Given the description of an element on the screen output the (x, y) to click on. 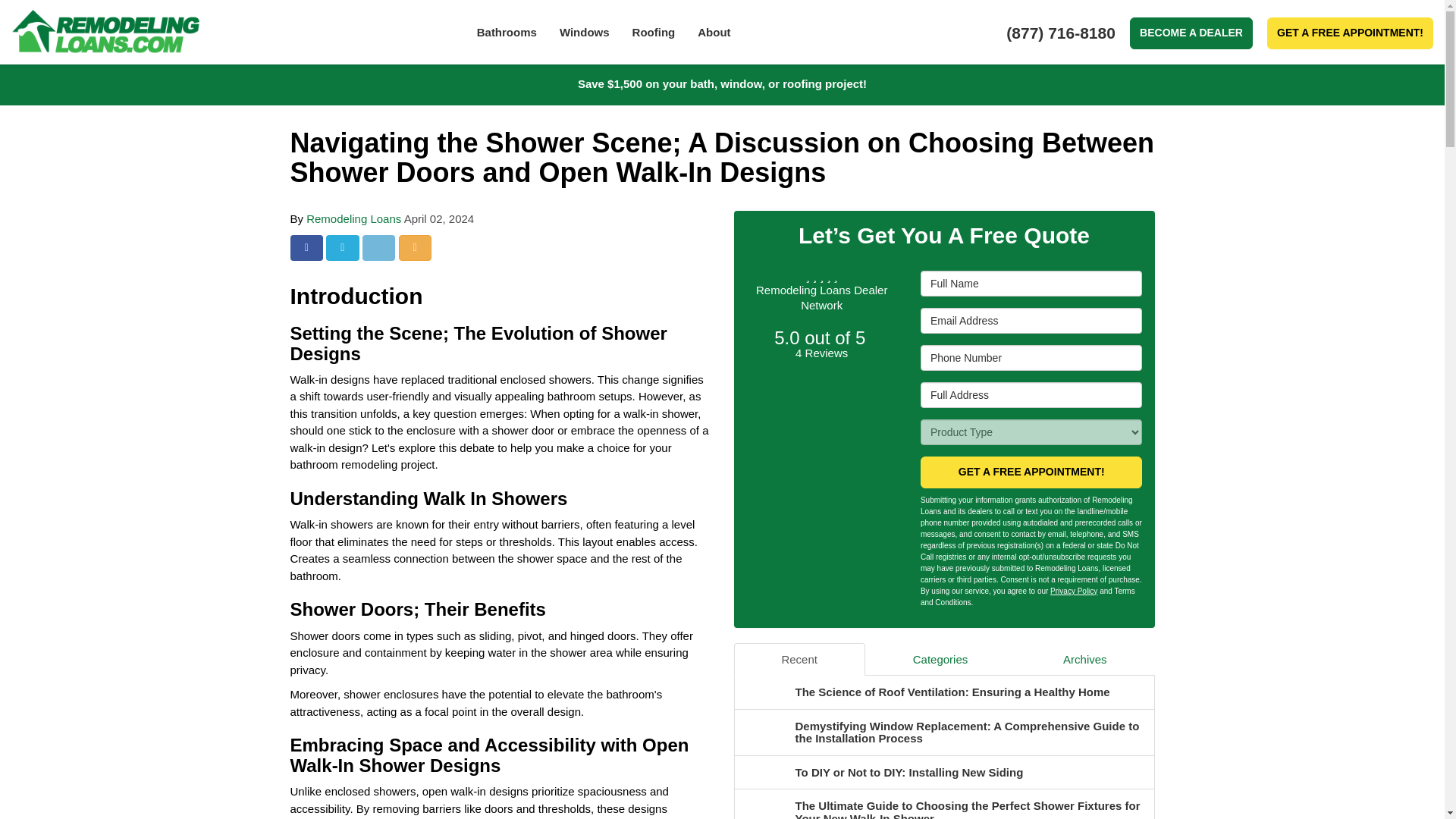
BECOME A DEALER (1190, 33)
Windows (584, 32)
GET A FREE APPOINTMENT! (1349, 33)
BECOME A DEALER (1190, 33)
Bathrooms (506, 32)
GET A FREE APPOINTMENT! (1349, 33)
Roofing (654, 32)
